Given the description of an element on the screen output the (x, y) to click on. 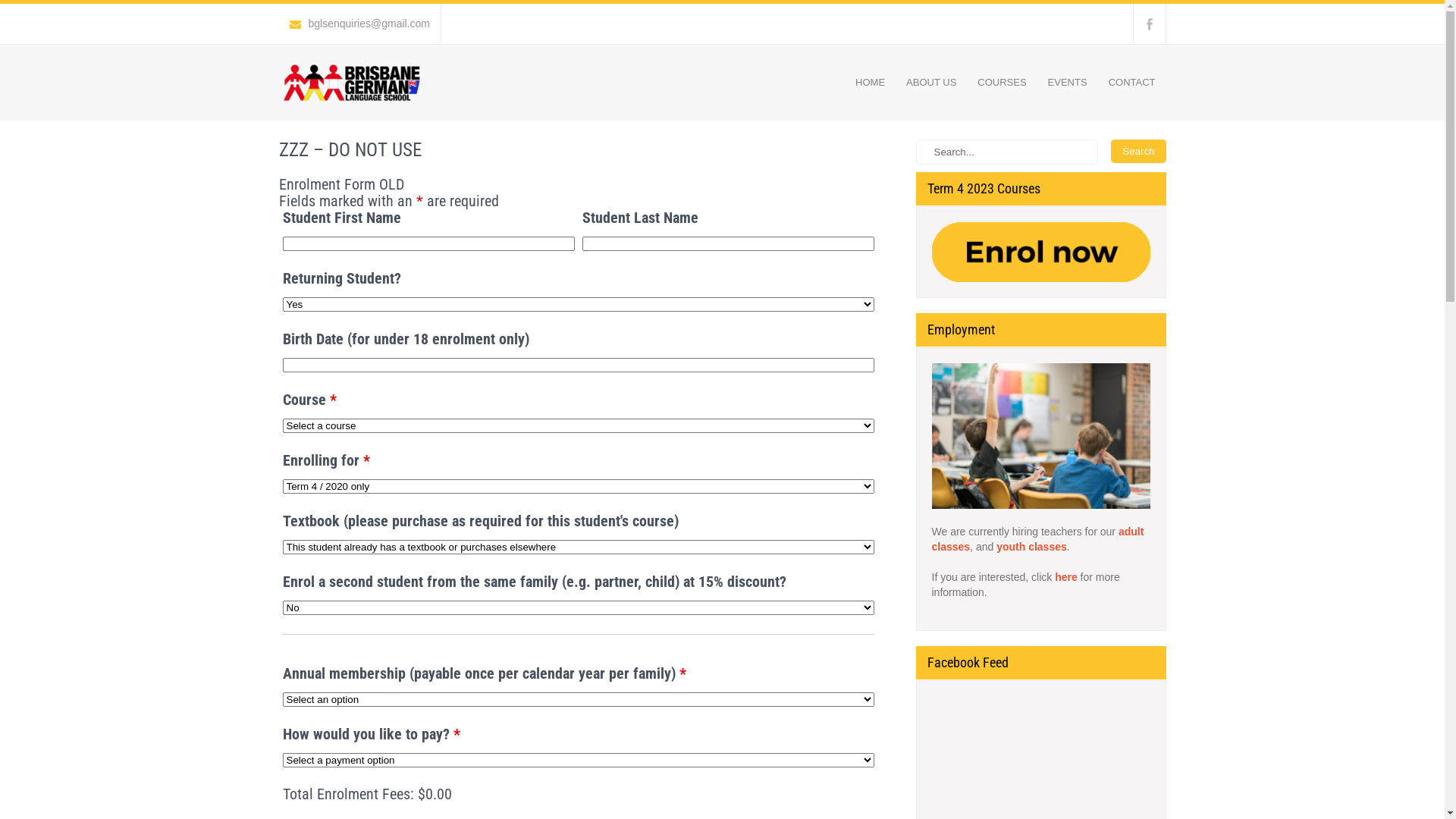
Search Element type: text (1137, 151)
CONTACT Element type: text (1132, 82)
HOME Element type: text (869, 82)
COURSES Element type: text (1001, 82)
bglsenquiries@gmail.com Element type: text (359, 23)
facebook Element type: hover (1149, 23)
adult classes Element type: text (1037, 538)
youth classes Element type: text (1031, 546)
here Element type: text (1065, 577)
EVENTS Element type: text (1067, 82)
ABOUT US Element type: text (930, 82)
